Given the description of an element on the screen output the (x, y) to click on. 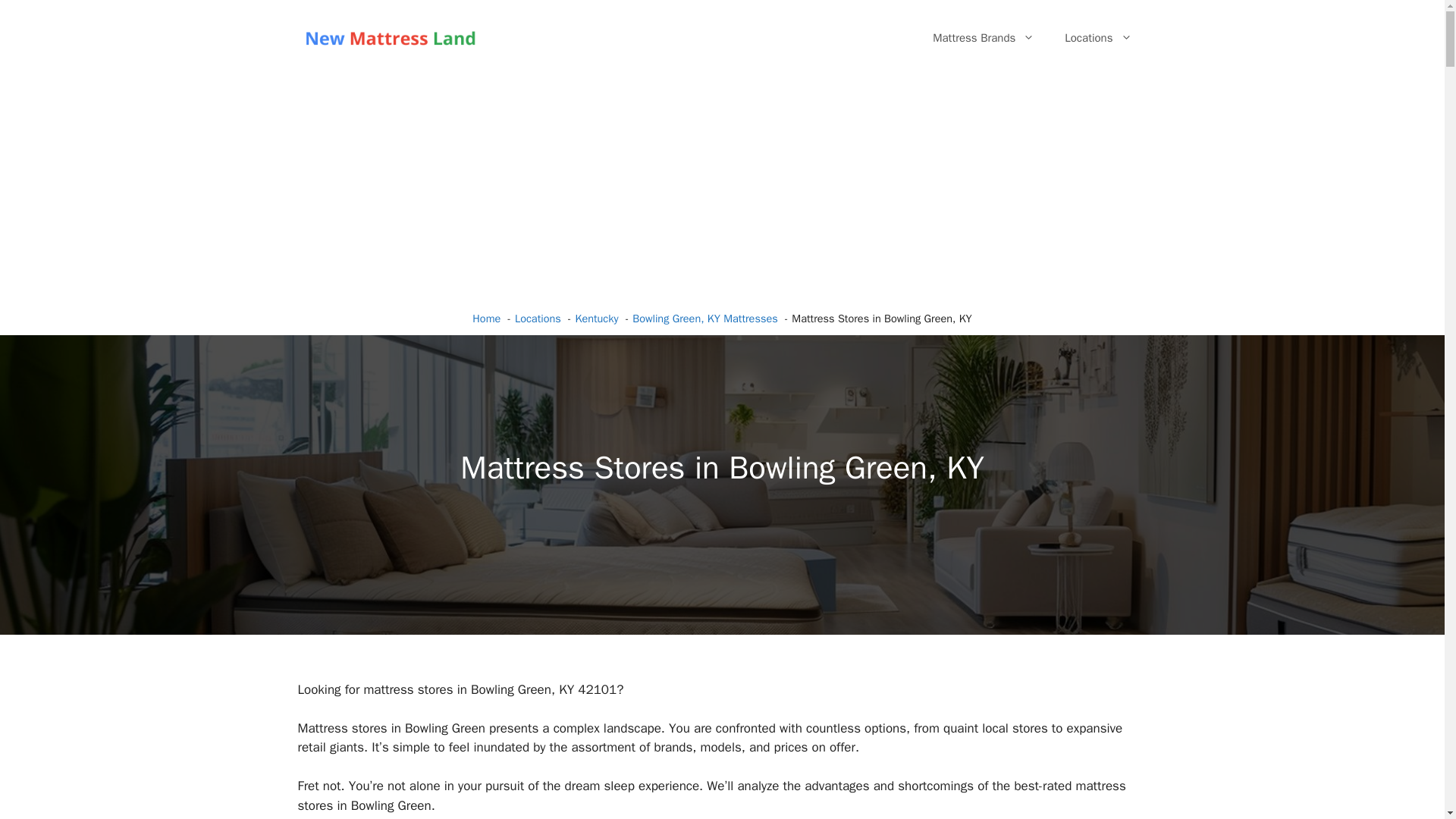
Home (485, 318)
Locations (537, 318)
Locations (1098, 37)
Mattress Brands (983, 37)
